Given the description of an element on the screen output the (x, y) to click on. 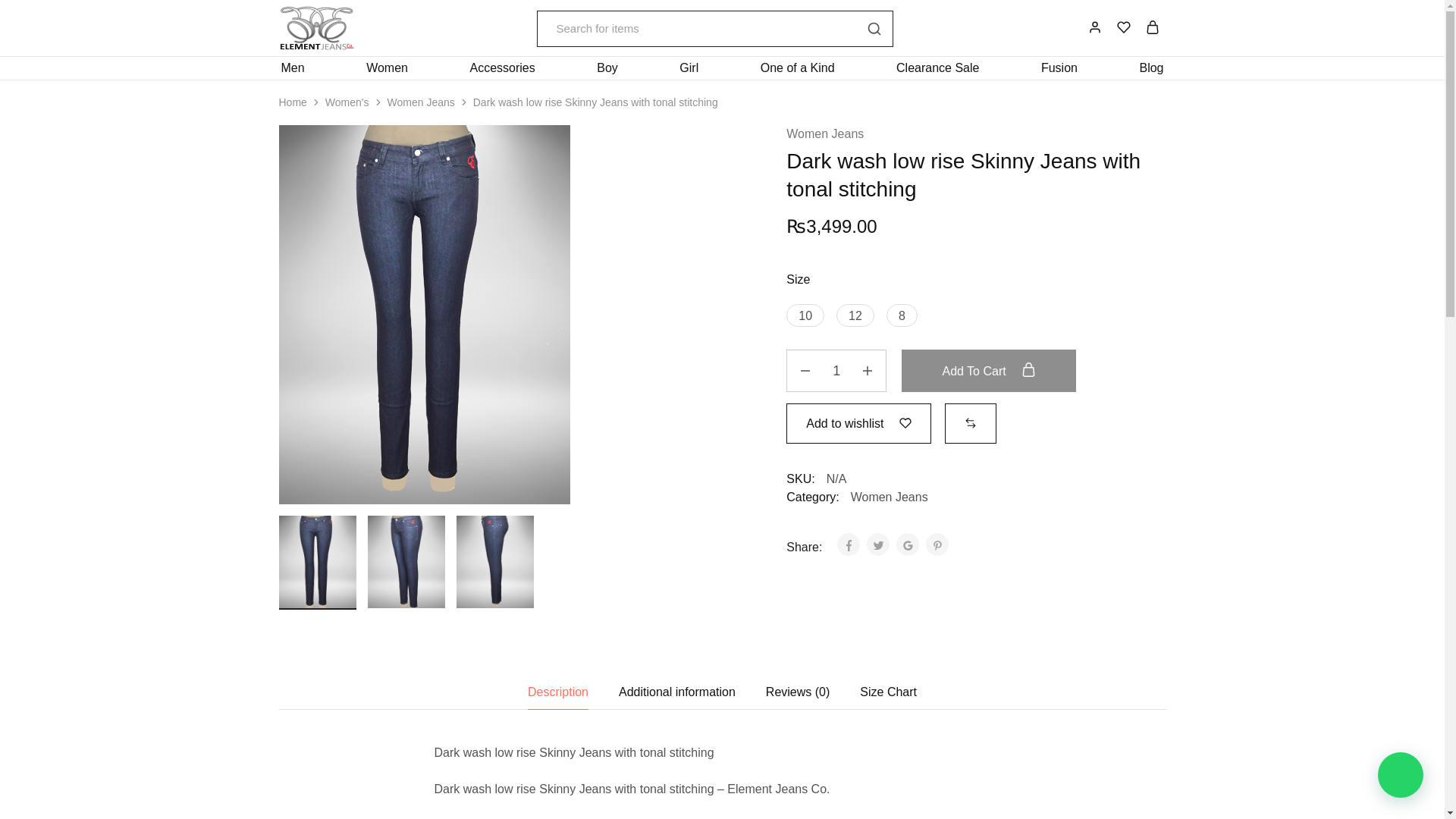
Accessories (502, 67)
Fusion (1059, 67)
Girl (688, 67)
Blog (1151, 67)
Clearance Sale (937, 67)
Men (293, 67)
Boy (607, 67)
Women (387, 67)
One of a Kind (797, 67)
